Given the description of an element on the screen output the (x, y) to click on. 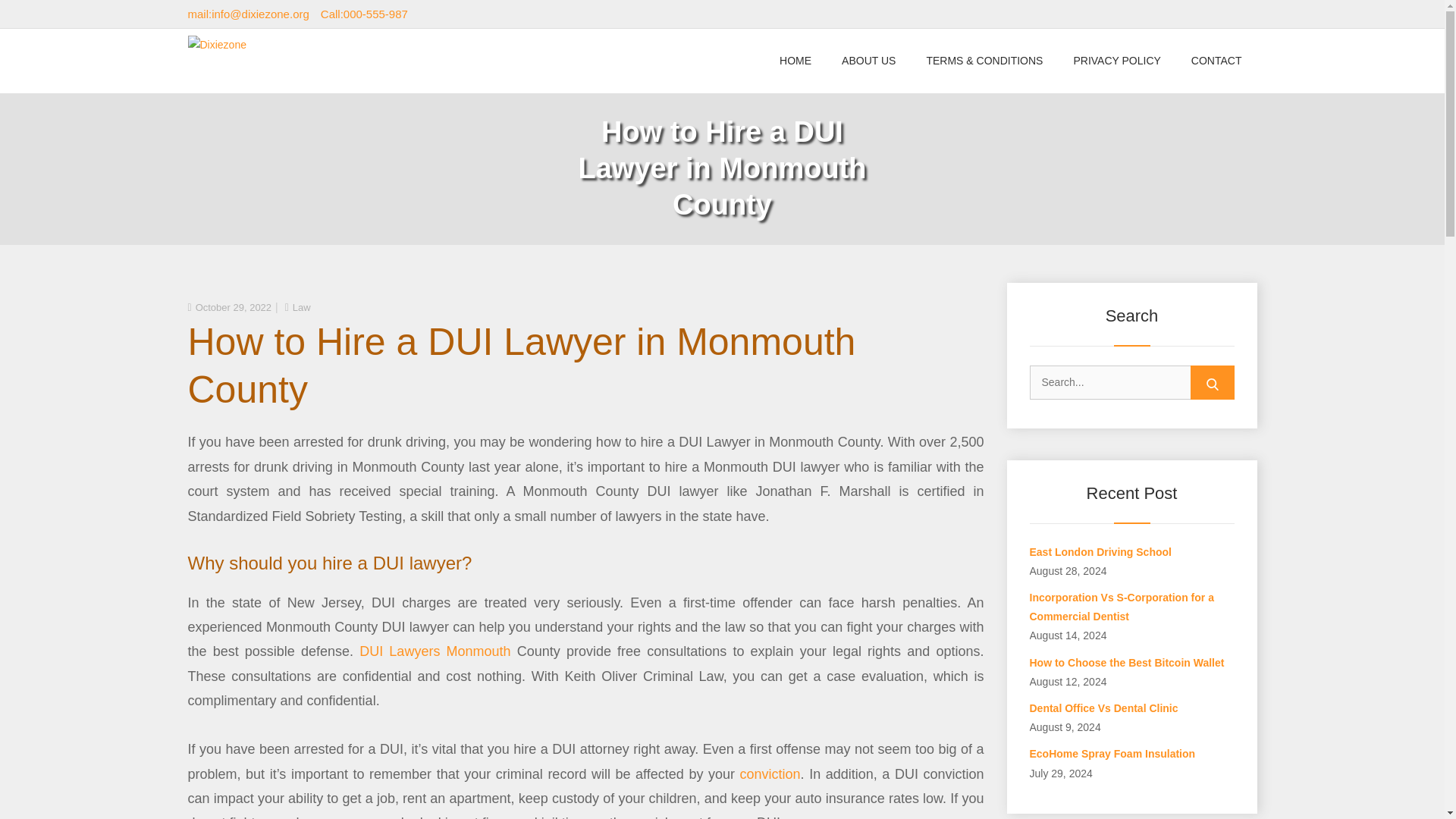
EcoHome Spray Foam Insulation (1112, 753)
Call:000-555-987 (363, 13)
ABOUT US (869, 60)
PRIVACY POLICY (1116, 60)
DUI Lawyers Monmouth (435, 651)
How to Choose the Best Bitcoin Wallet (1126, 662)
HOME (795, 60)
Dixiezone (234, 67)
CONTACT (1216, 60)
October 29, 2022 (232, 307)
